Given the description of an element on the screen output the (x, y) to click on. 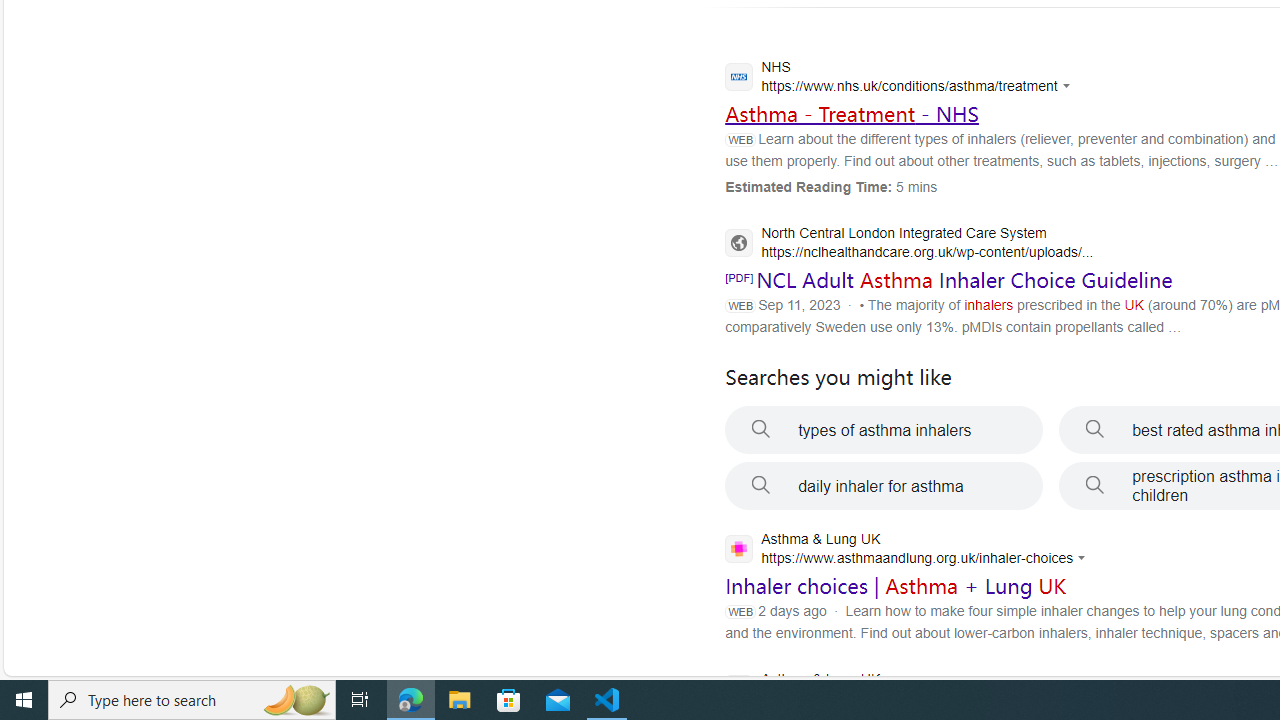
Asthma & Lung UK (902, 691)
daily inhaler for asthma (884, 485)
Actions for this site (1084, 557)
NHS (902, 79)
daily inhaler for asthma (884, 485)
North Central London Integrated Care System (909, 244)
Estimated Reading Time: 5 mins (831, 186)
types of asthma inhalers (884, 430)
NCL Adult Asthma Inhaler Choice Guideline (964, 280)
types of asthma inhalers (884, 430)
Inhaler choices | Asthma + Lung UK (895, 586)
Asthma - Treatment - NHS (851, 113)
